Given the description of an element on the screen output the (x, y) to click on. 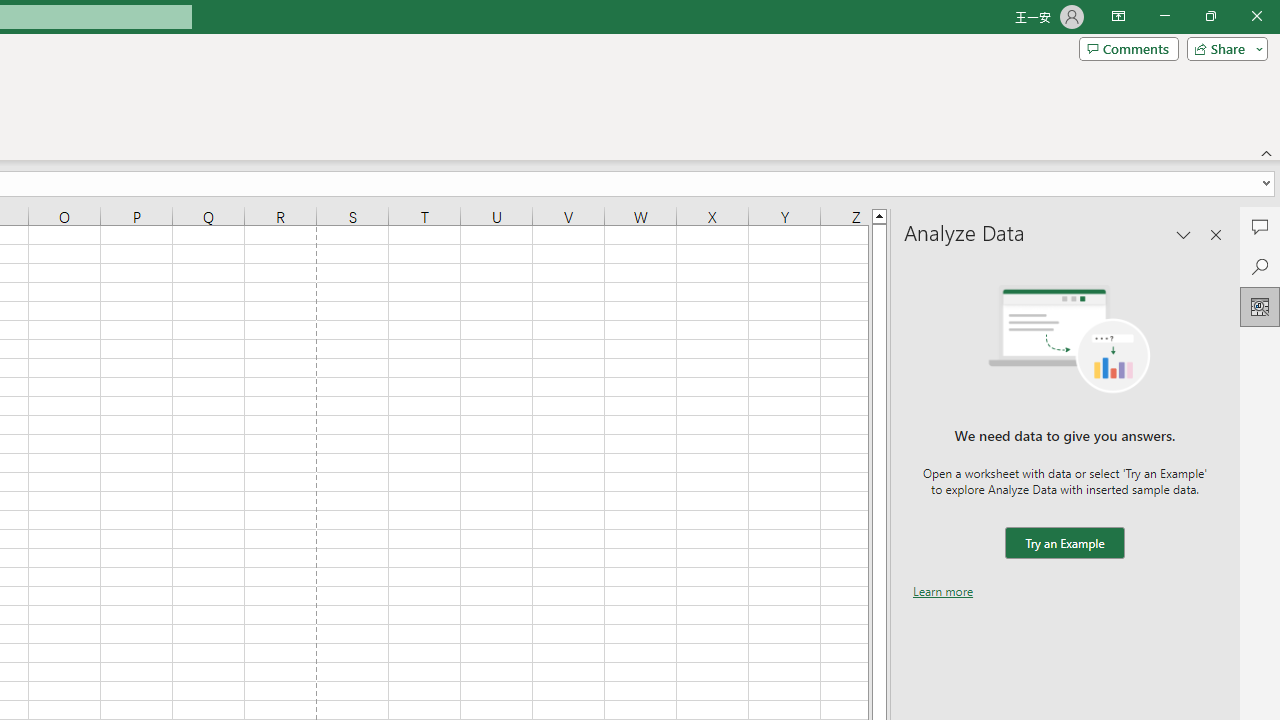
Close pane (1215, 234)
Task Pane Options (1183, 234)
We need data to give you answers. Try an Example (1064, 543)
Learn more (943, 591)
Analyze Data (1260, 306)
Search (1260, 266)
